Given the description of an element on the screen output the (x, y) to click on. 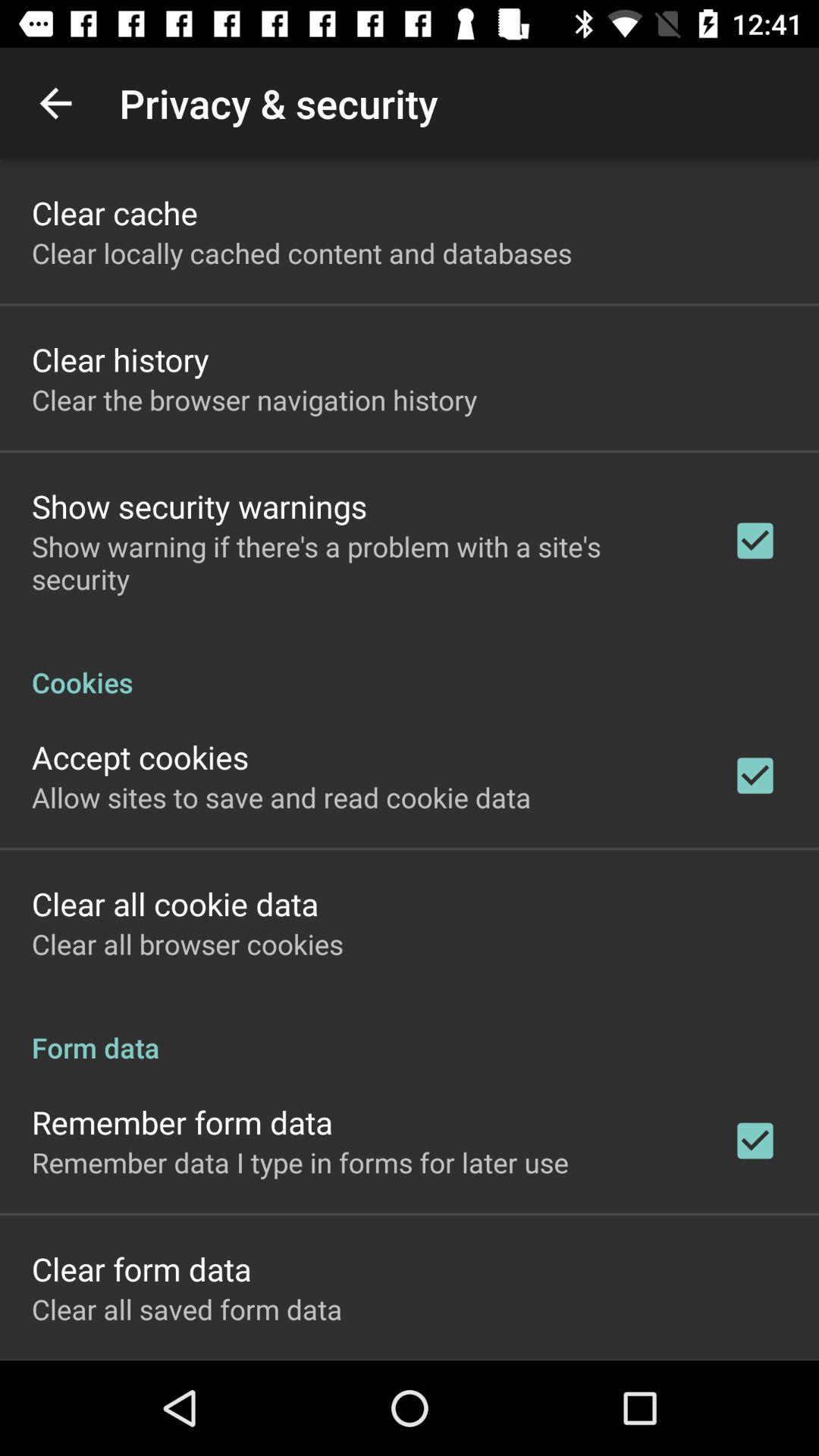
select the app above the clear cache icon (55, 103)
